Given the description of an element on the screen output the (x, y) to click on. 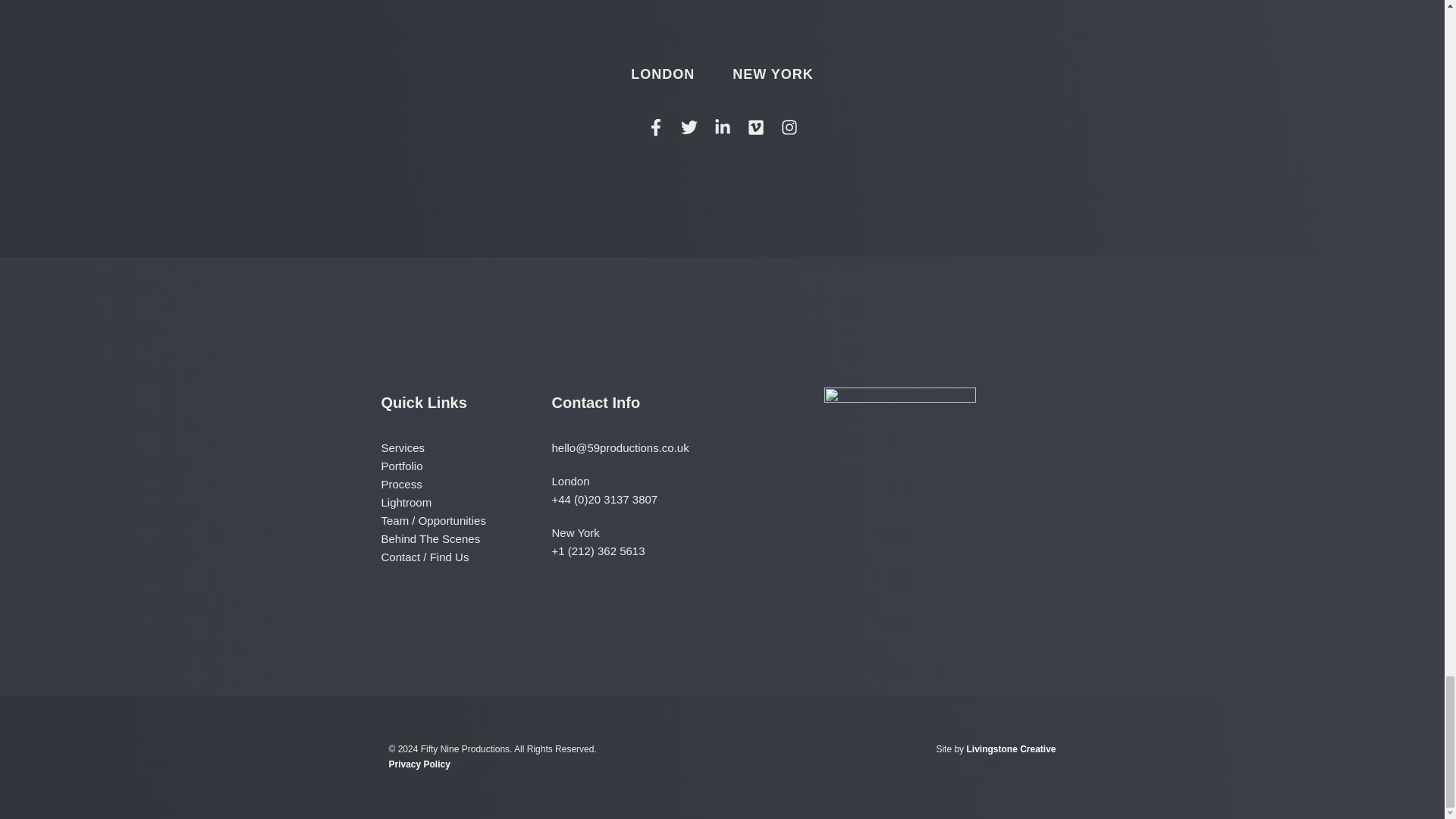
Services (465, 447)
Privacy Policy (418, 764)
Livingstone Creative (1010, 748)
Lightroom (465, 502)
Portfolio (465, 466)
Process (465, 484)
Behind The Scenes (465, 538)
